Given the description of an element on the screen output the (x, y) to click on. 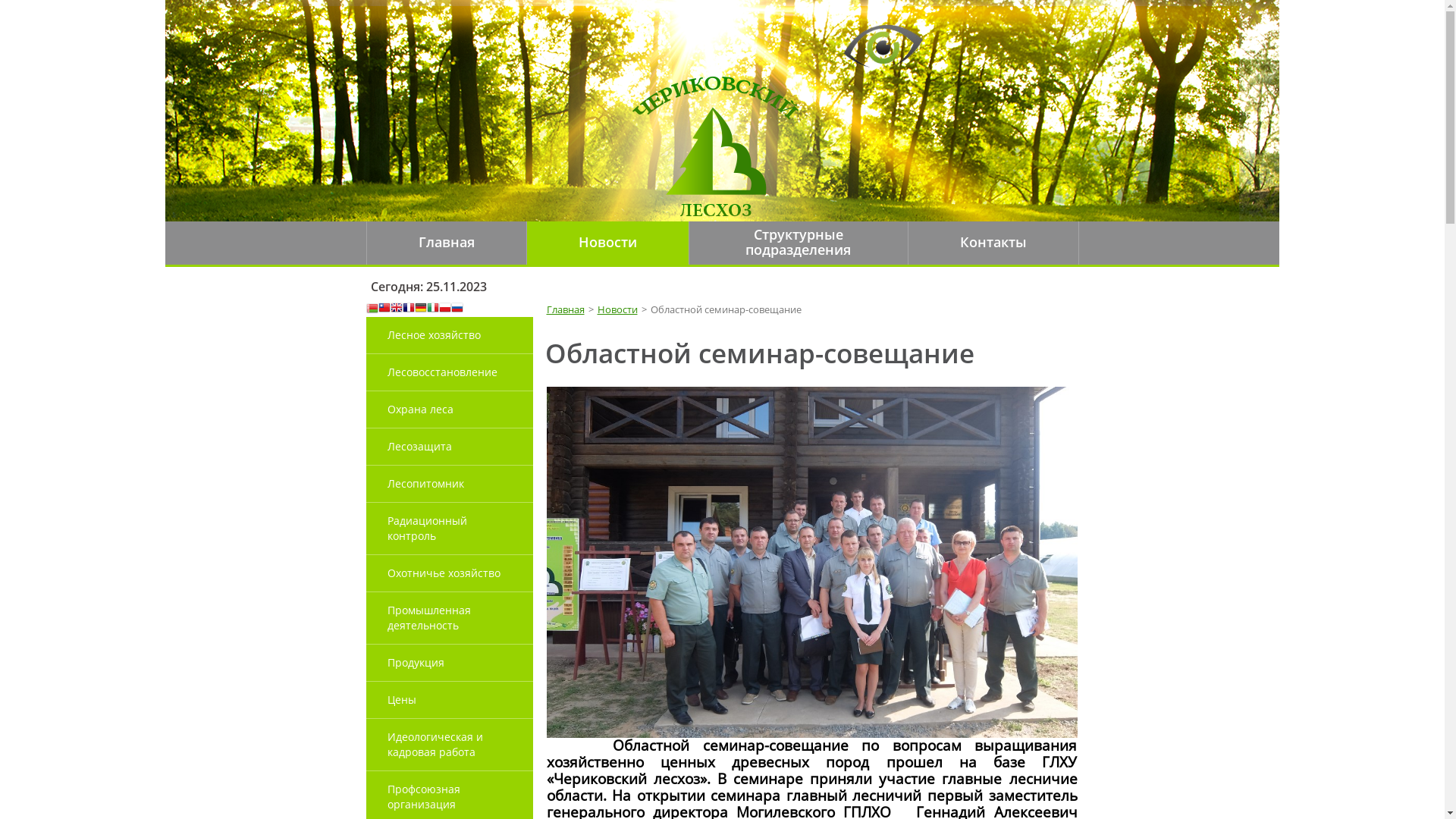
Chinese (Traditional) Element type: hover (383, 308)
English Element type: hover (395, 308)
Polish Element type: hover (444, 308)
Italian Element type: hover (432, 308)
French Element type: hover (407, 308)
Russian Element type: hover (456, 308)
German Element type: hover (420, 308)
Belarusian Element type: hover (371, 308)
